Given the description of an element on the screen output the (x, y) to click on. 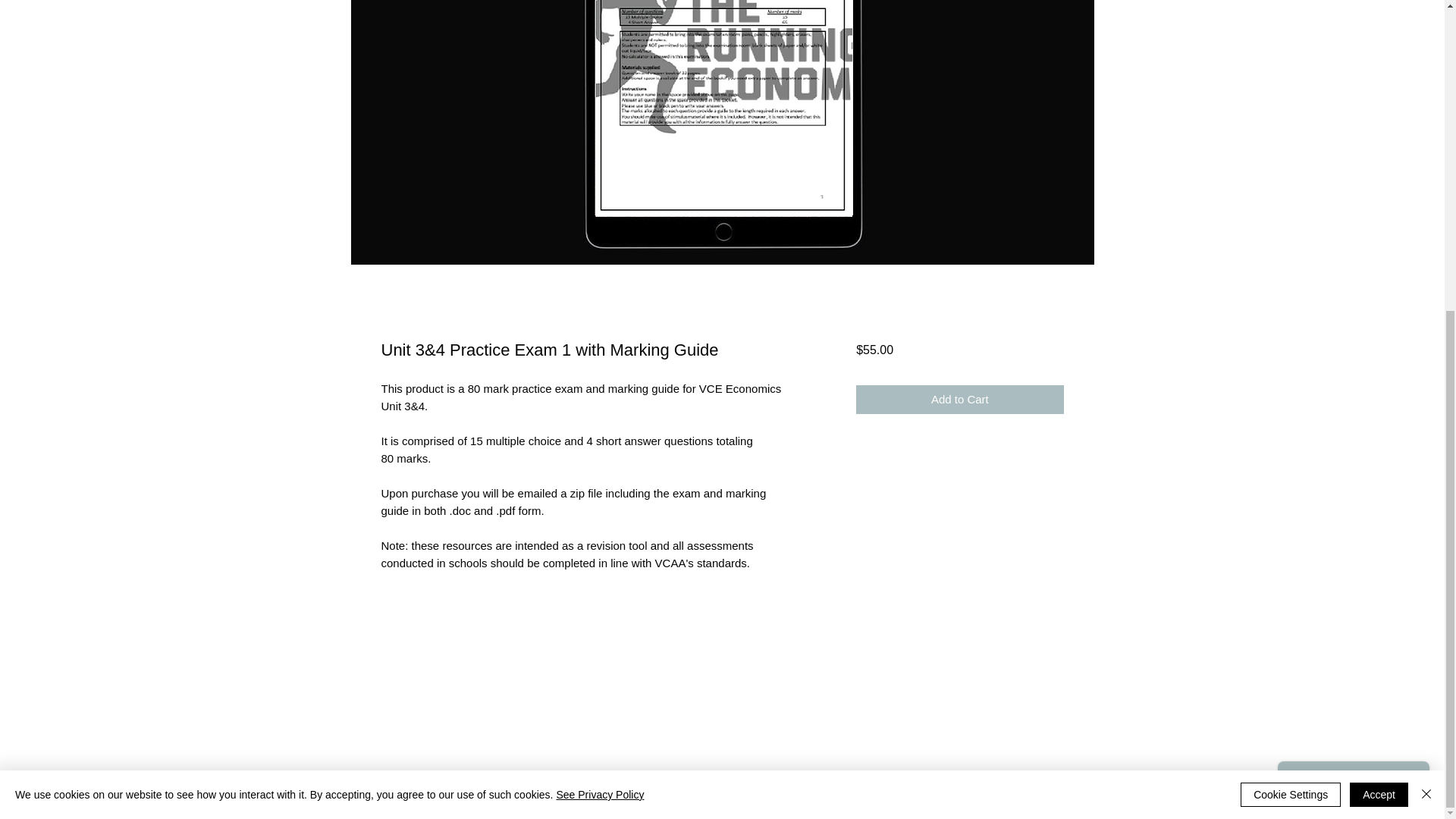
Accept (1378, 301)
Cookie Settings (1290, 301)
See Privacy Policy (599, 301)
Add to Cart (959, 399)
